Given the description of an element on the screen output the (x, y) to click on. 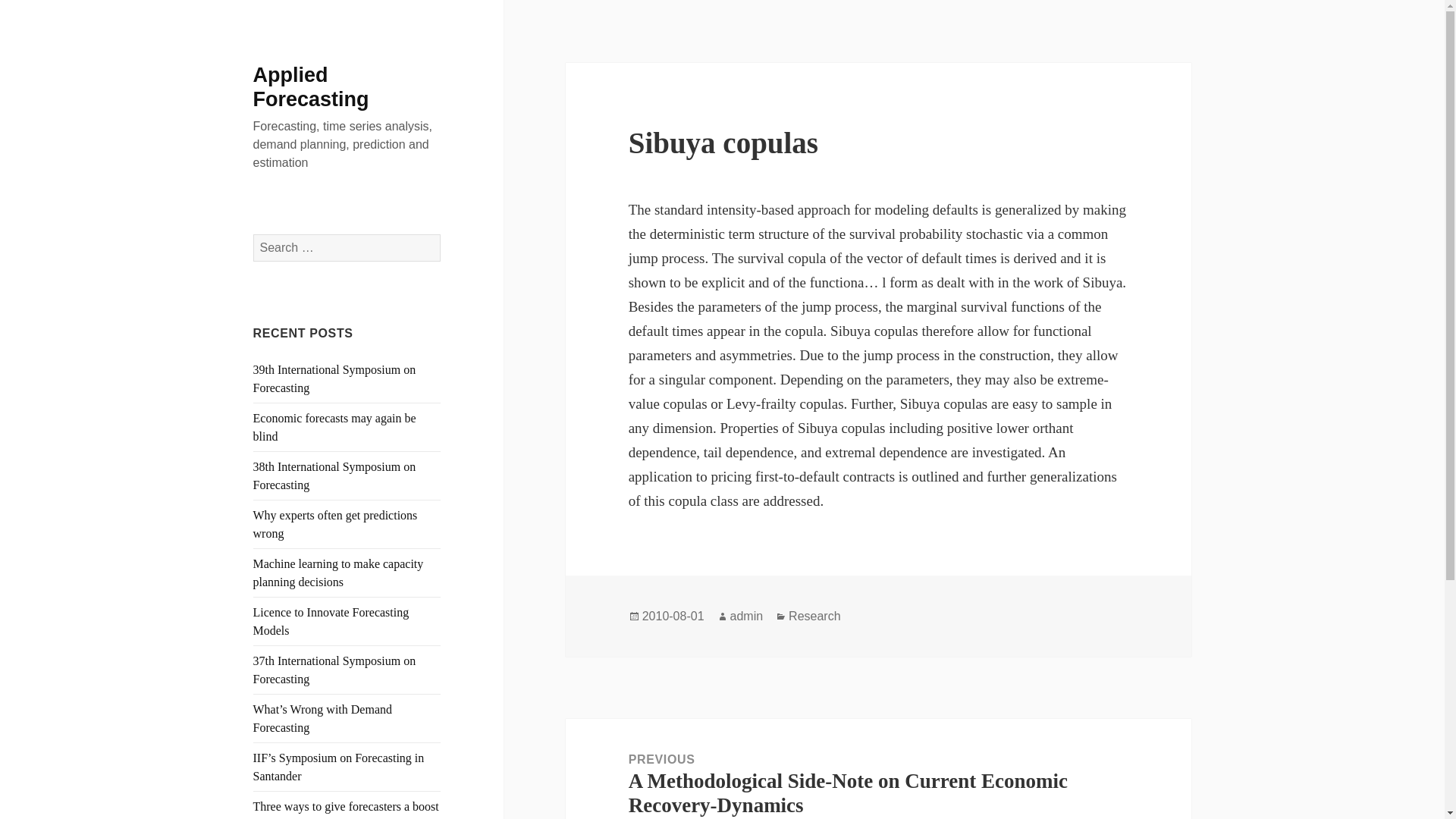
Three ways to give forecasters a boost (346, 806)
Machine learning to make capacity planning decisions (338, 572)
admin (746, 616)
Licence to Innovate Forecasting Models (331, 621)
37th International Symposium on Forecasting (334, 669)
Applied Forecasting (311, 86)
Why experts often get predictions wrong (335, 523)
Economic forecasts may again be blind (334, 427)
